Given the description of an element on the screen output the (x, y) to click on. 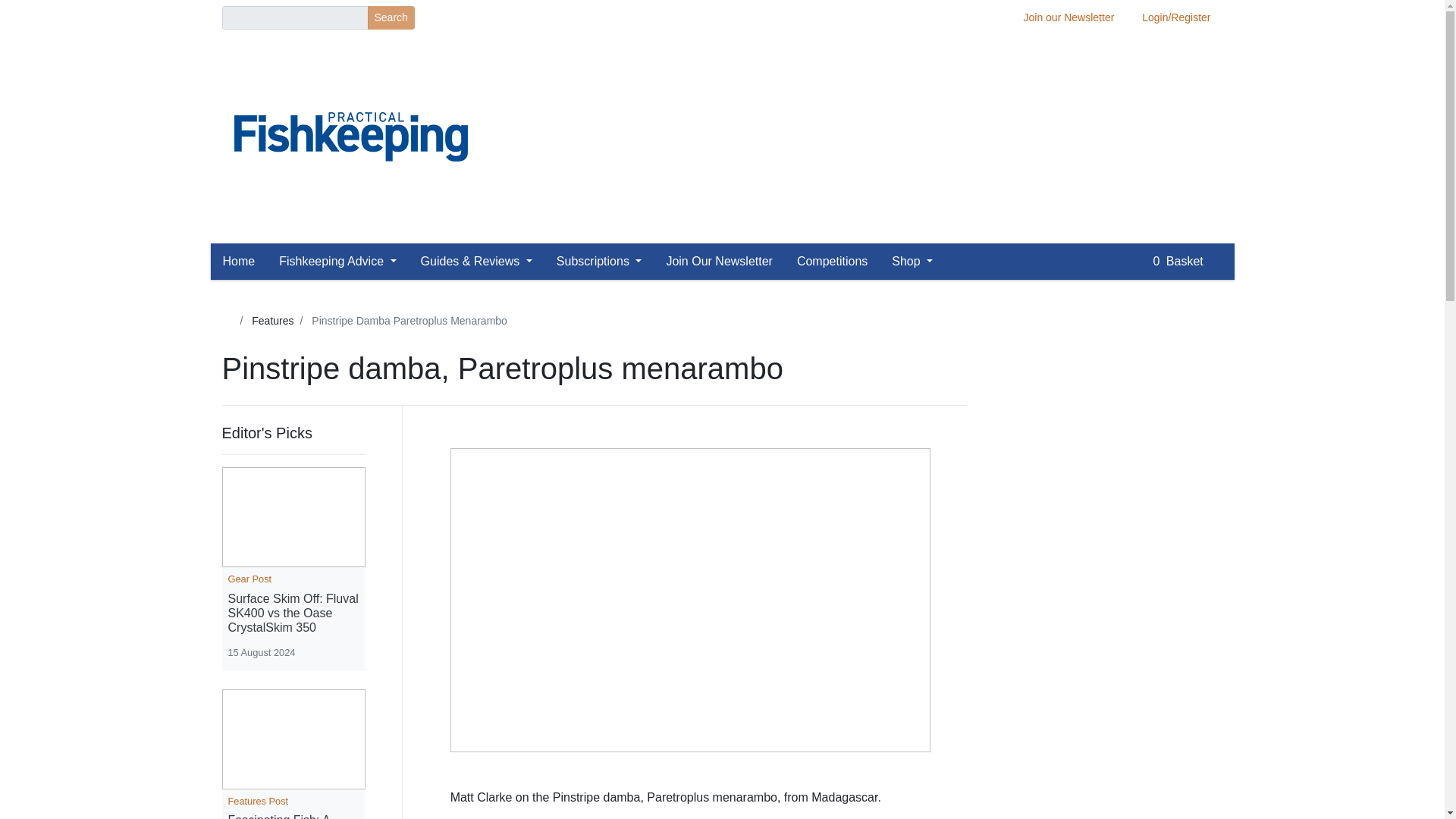
Fishkeeping Advice (336, 261)
0 Basket (1187, 261)
Shop (911, 261)
Features (272, 320)
Home (244, 261)
Join our Newsletter (1068, 17)
Join Our Newsletter (718, 261)
Surface Skim Off: Fluval SK400 vs the Oase CrystalSkim 350 (292, 613)
Search (389, 17)
Subscriptions (598, 261)
